Given the description of an element on the screen output the (x, y) to click on. 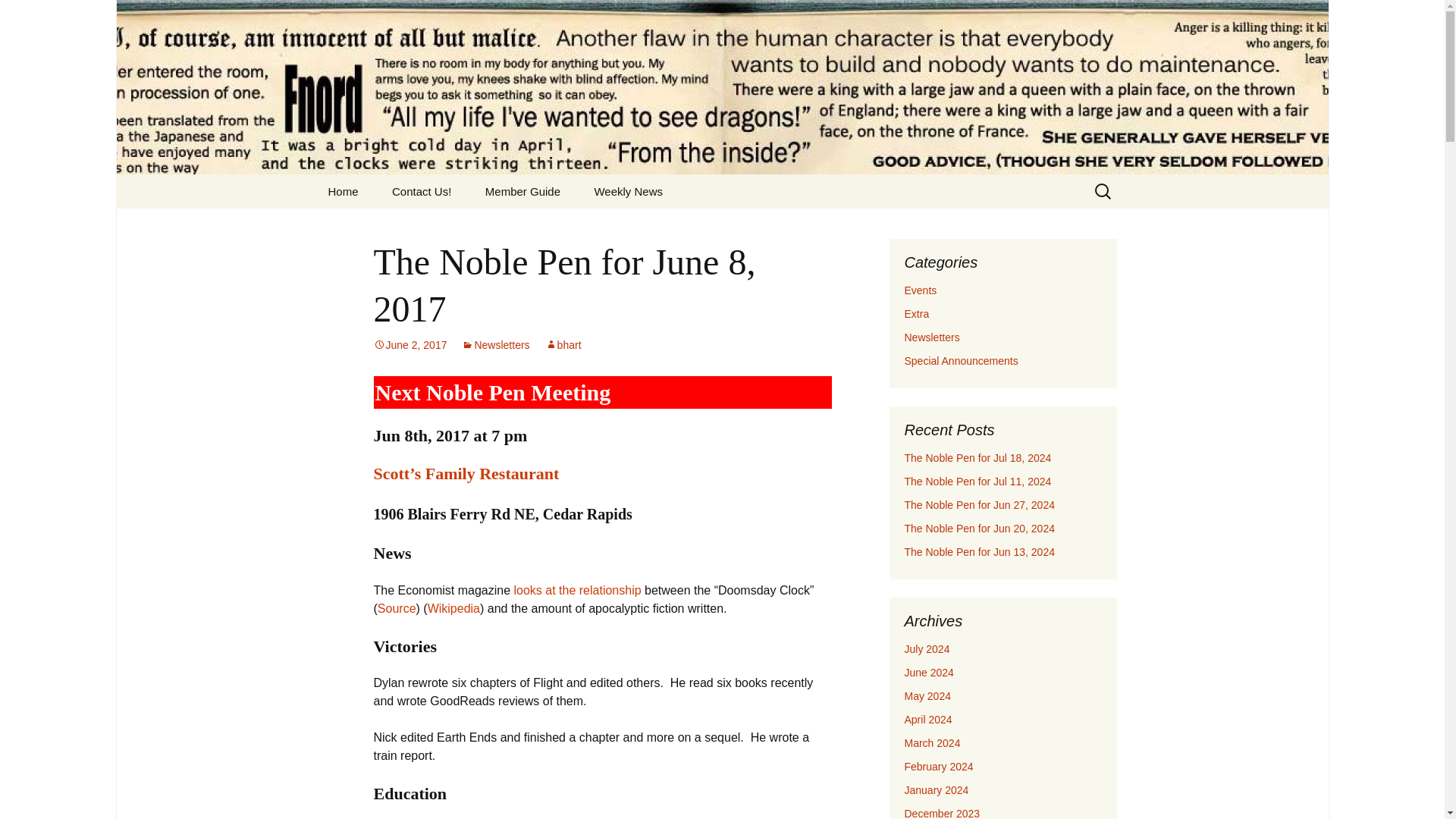
February 2024 (938, 766)
Newsletters (931, 337)
Special Announcements (960, 360)
Source (396, 608)
Wikipedia (454, 608)
Permalink to The Noble Pen for June 8, 2017 (409, 345)
Newsletters (495, 345)
Search (18, 15)
bhart (562, 345)
Member Guide (522, 191)
Home (342, 191)
The Noble Pen for Jun 27, 2024 (979, 504)
The Noble Pen for Jun 20, 2024 (979, 528)
June 2024 (928, 672)
